Given the description of an element on the screen output the (x, y) to click on. 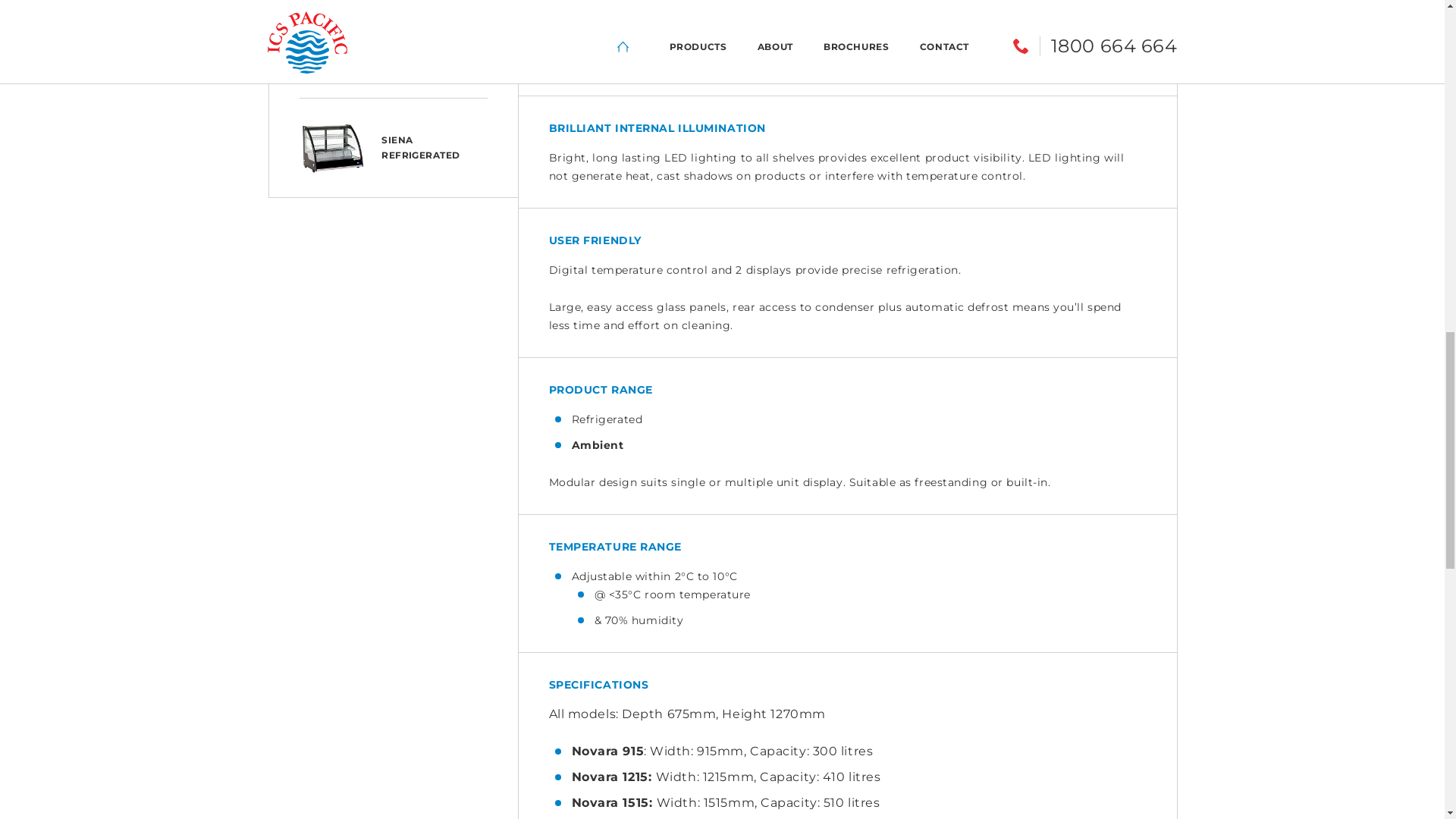
Refrigerated-Displays-1 Element type: hover (1036, 348)
VENICE JOEY Element type: text (392, 666)
VENICE Element type: text (392, 764)
VERONA REFRIGERATED Element type: text (392, 567)
3-year-warranty Element type: hover (1104, 590)
